Given the description of an element on the screen output the (x, y) to click on. 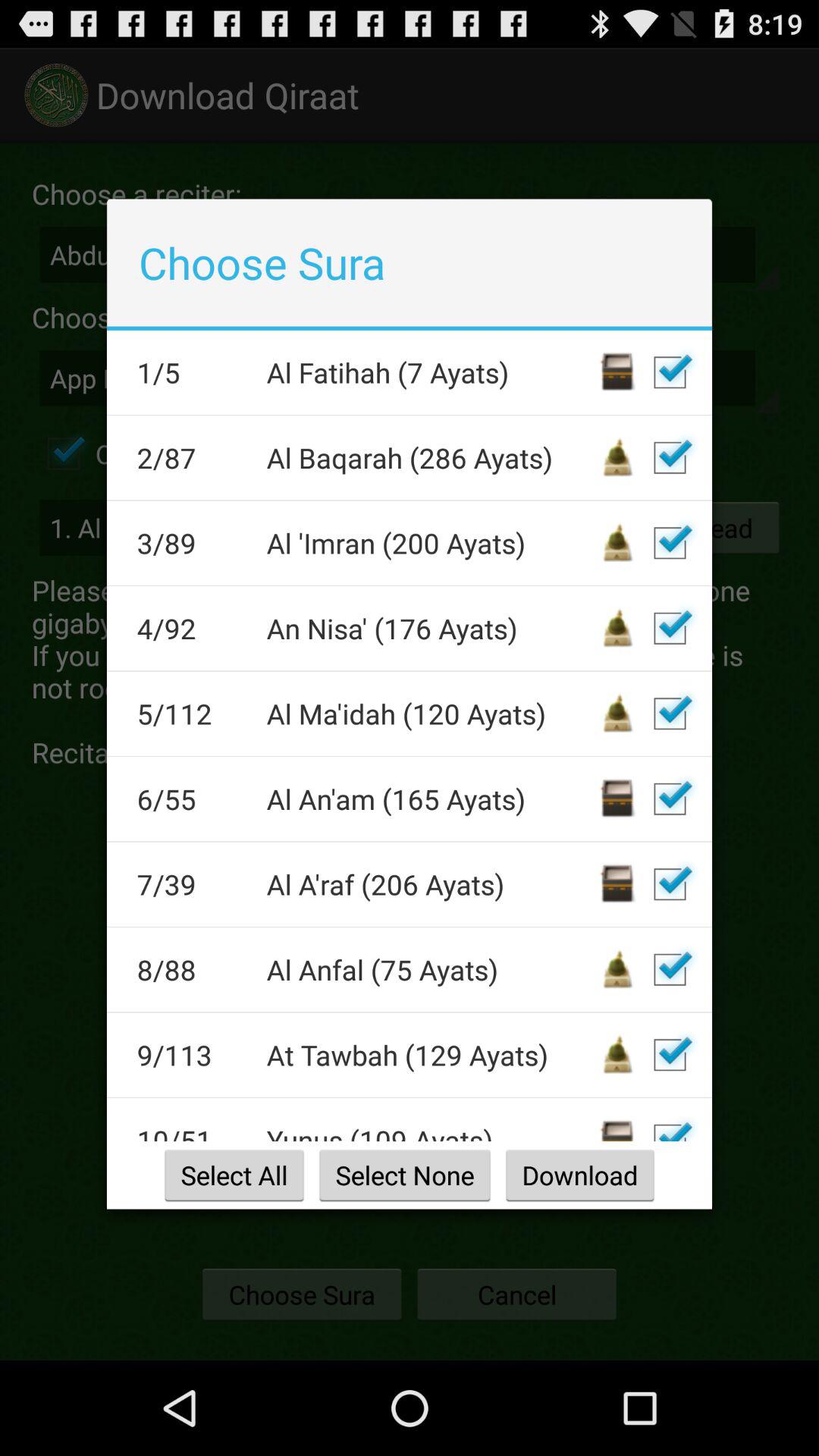
deselect file (669, 372)
